Given the description of an element on the screen output the (x, y) to click on. 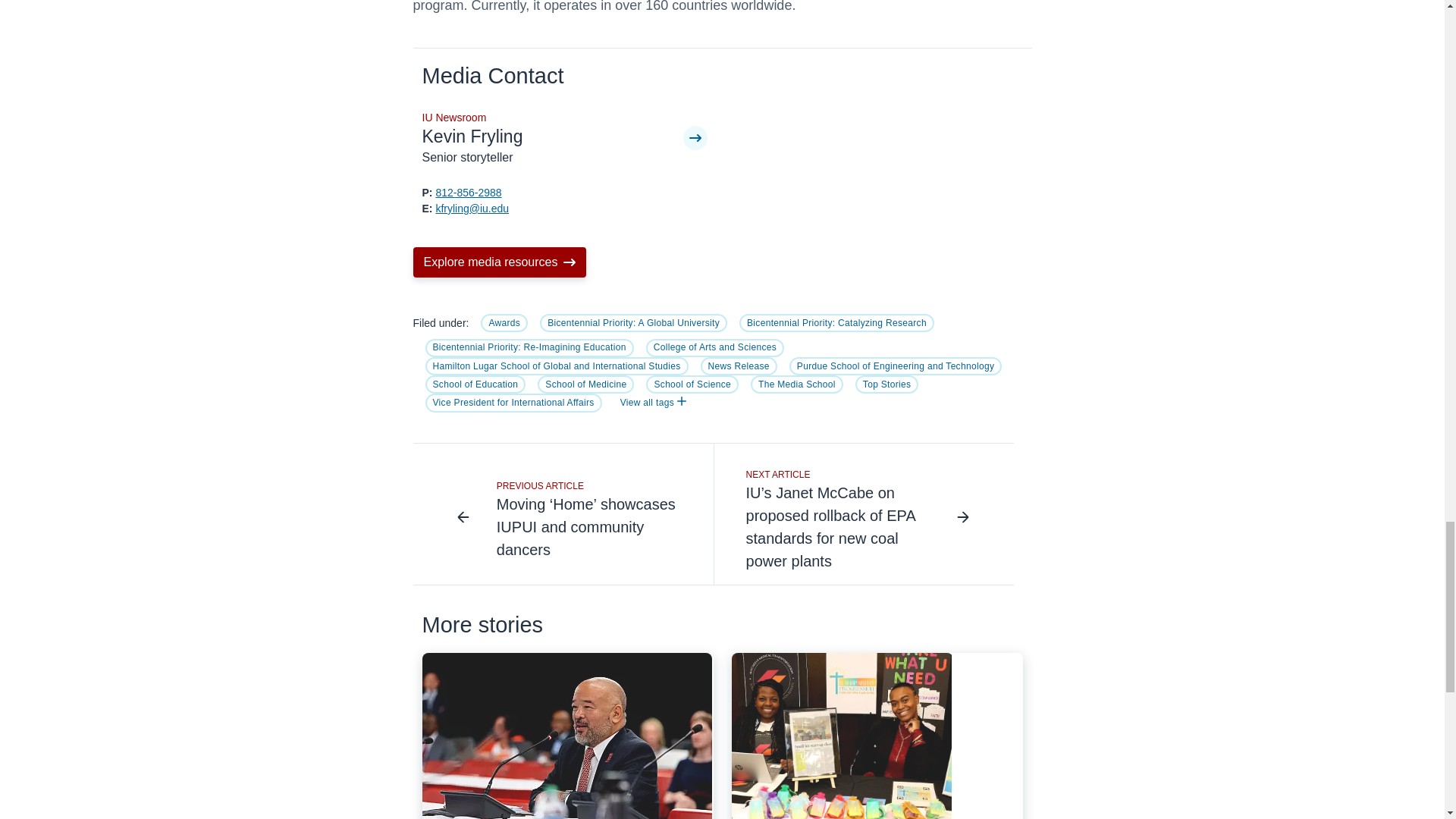
School of Medicine (585, 384)
News Release (738, 366)
The Media School (797, 384)
Top Stories (887, 384)
Bicentennial Priority: A Global University (633, 322)
812-856-2988 (467, 192)
Bicentennial Priority: Re-Imagining Education (529, 348)
School of Education (475, 384)
Bicentennial Priority: Catalyzing Research (836, 322)
Hamilton Lugar School of Global and International Studies (556, 366)
Awards (503, 322)
View all tags Plus sign (653, 402)
College of Arts and Sciences (715, 348)
Plus sign (681, 400)
School of Science (692, 384)
